Given the description of an element on the screen output the (x, y) to click on. 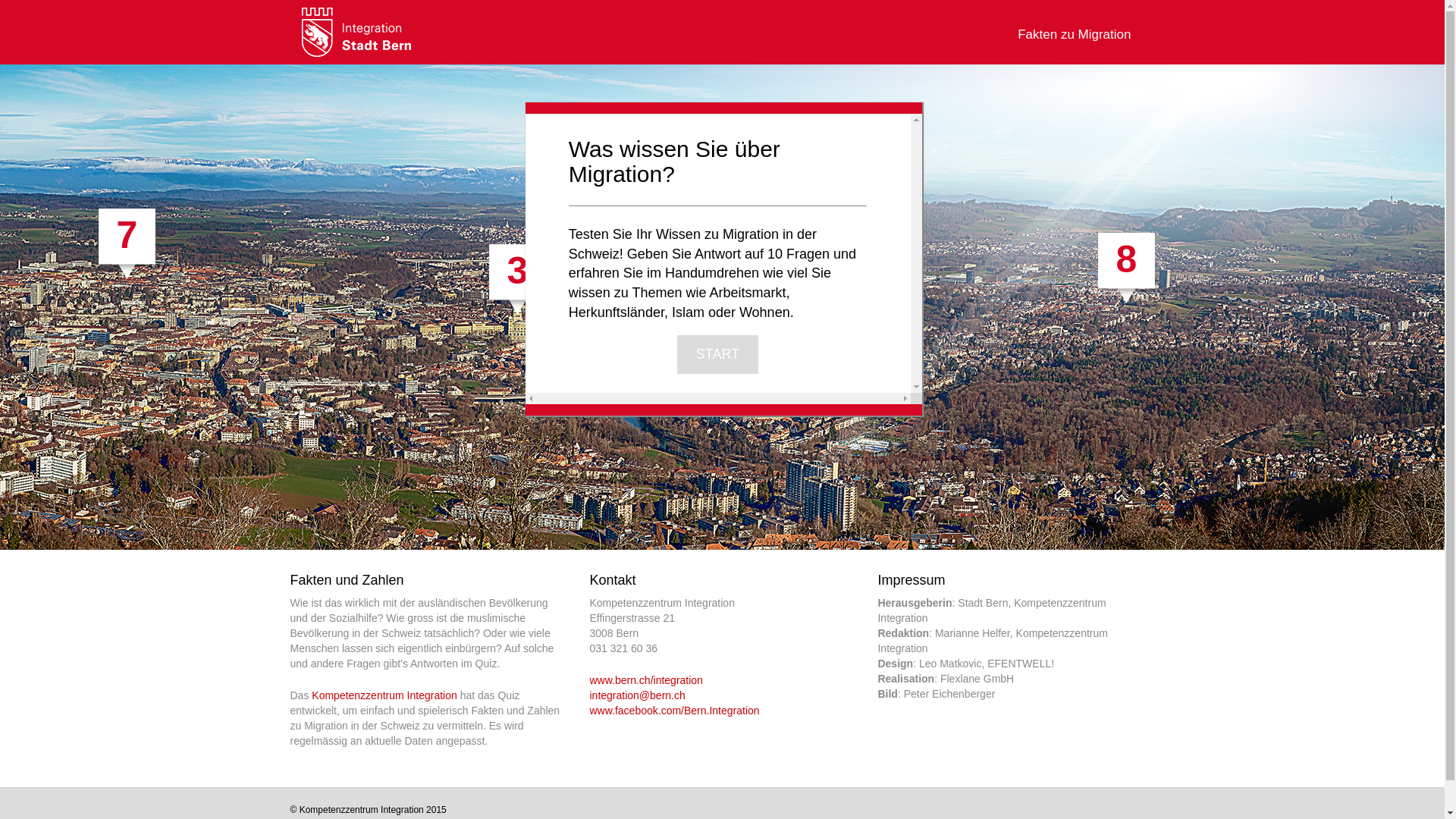
START Element type: text (717, 354)
Fakten zu Migration Element type: text (1074, 27)
www.facebook.com/Bern.Integration Element type: text (674, 710)
integration@bern.ch Element type: text (636, 695)
www.bern.ch/integration Element type: text (645, 680)
Kompetenzzentrum Integration Element type: text (383, 695)
Kompetenzzentrum Integration Element type: hover (356, 31)
